Given the description of an element on the screen output the (x, y) to click on. 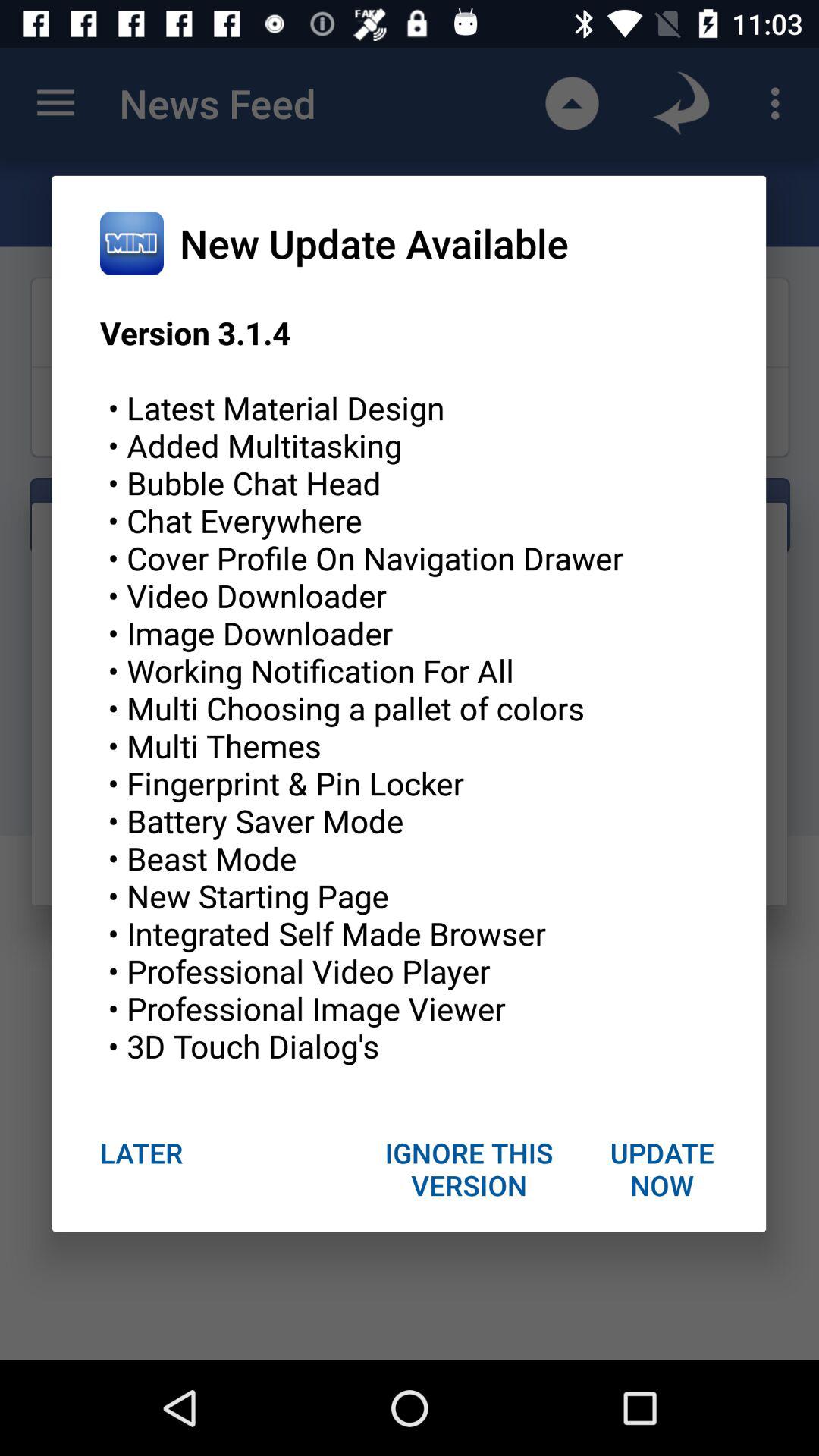
press the ignore this
version item (469, 1168)
